Given the description of an element on the screen output the (x, y) to click on. 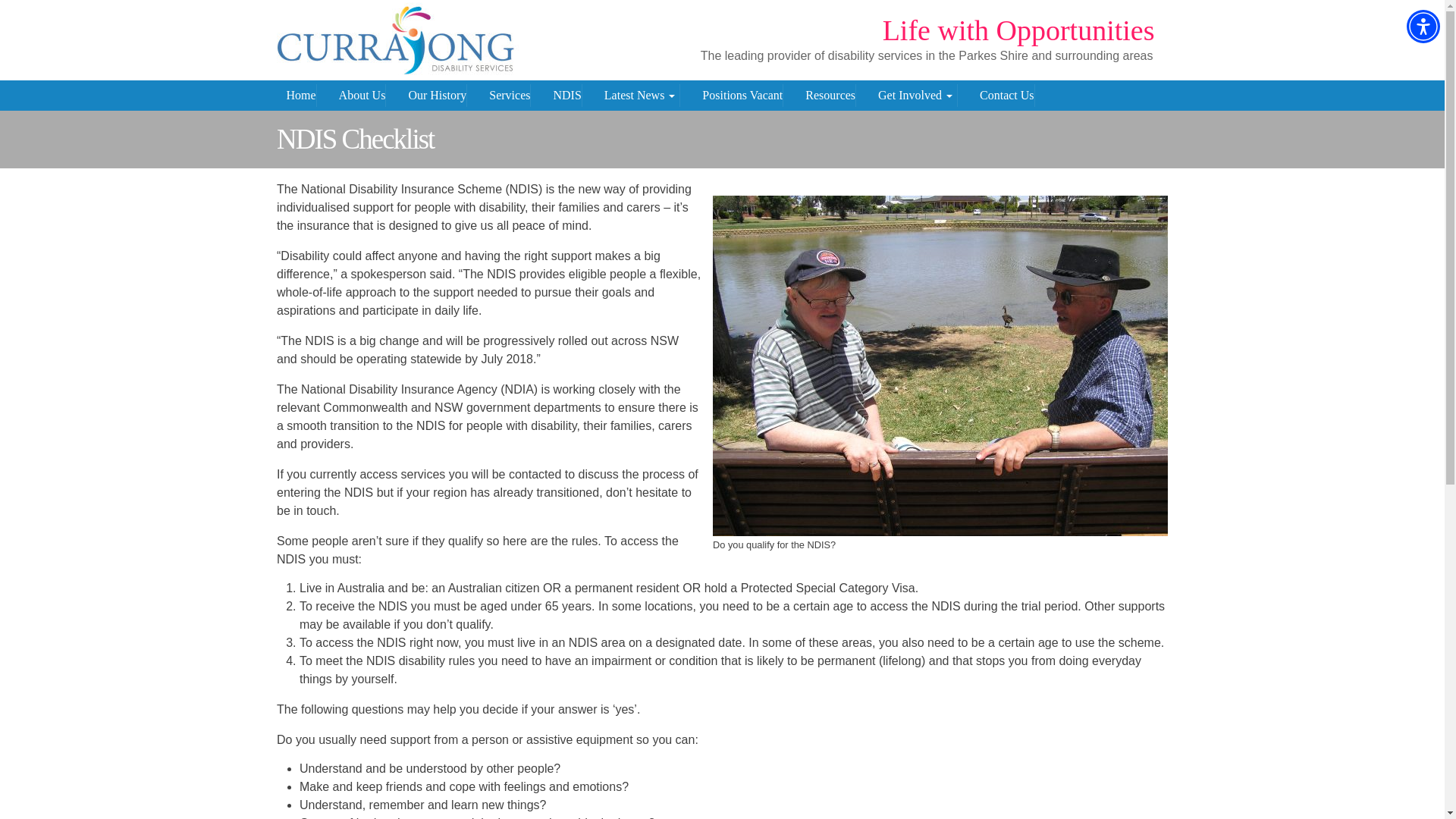
Services (509, 95)
Latest News (641, 95)
About Us (362, 95)
Contact Us (1006, 95)
Positions Vacant (742, 95)
Resources (830, 95)
Home (300, 95)
Our History (436, 95)
Get Involved (916, 95)
NDIS (566, 95)
Accessibility Menu (1422, 26)
